Given the description of an element on the screen output the (x, y) to click on. 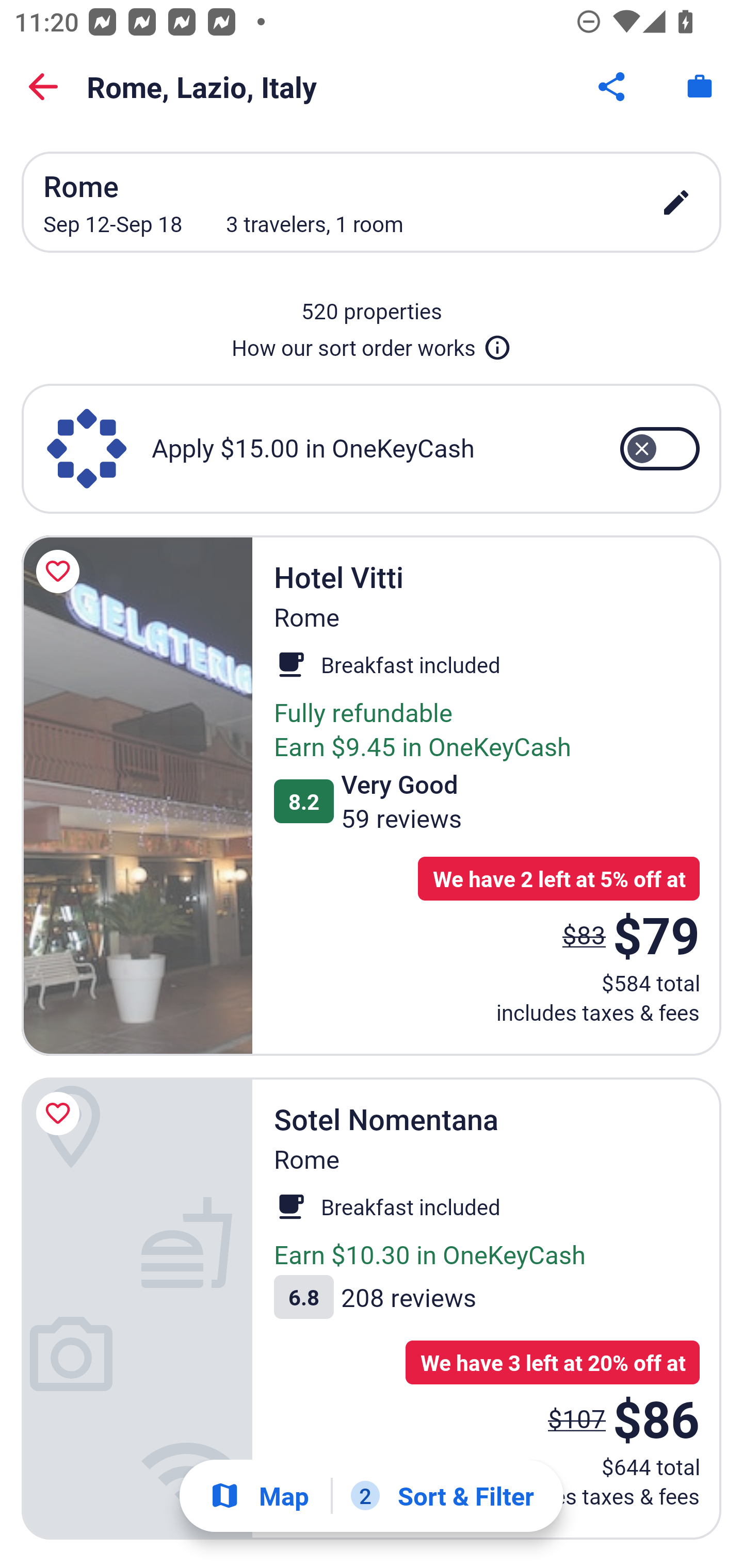
Back (43, 86)
Share Button (612, 86)
Trips. Button (699, 86)
Rome Sep 12-Sep 18 3 travelers, 1 room edit (371, 202)
How our sort order works (371, 344)
Save Hotel Vitti to a trip (61, 571)
Hotel Vitti (136, 794)
$83 The price was $83 (583, 934)
Save Sotel Nomentana to a trip (61, 1113)
Sotel Nomentana (136, 1308)
$107 The price was $107 (576, 1418)
2 Sort & Filter 2 Filters applied. Filters Button (442, 1495)
Show map Map Show map Button (258, 1495)
